Given the description of an element on the screen output the (x, y) to click on. 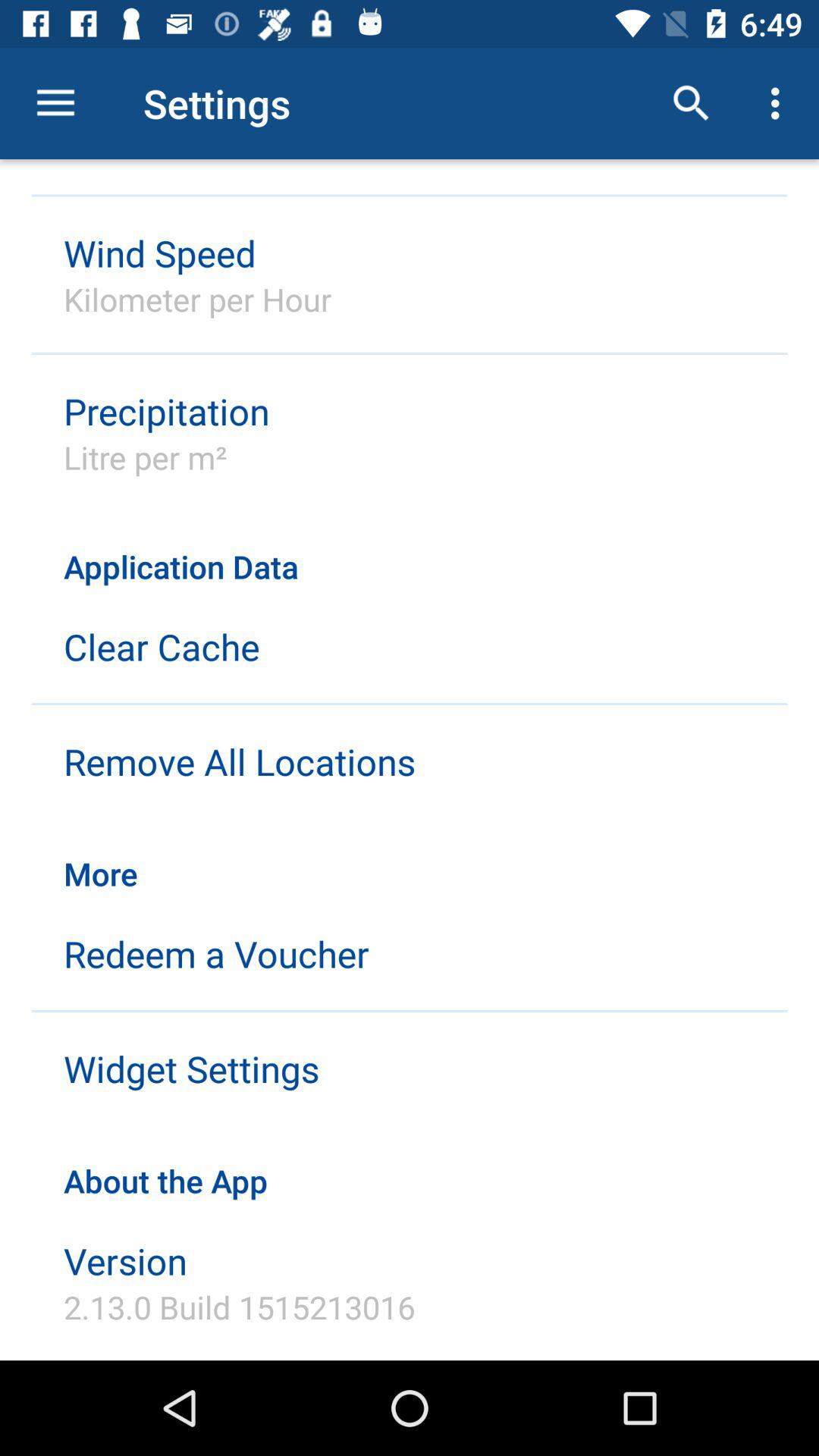
tap icon below kilometer per hour item (166, 410)
